Given the description of an element on the screen output the (x, y) to click on. 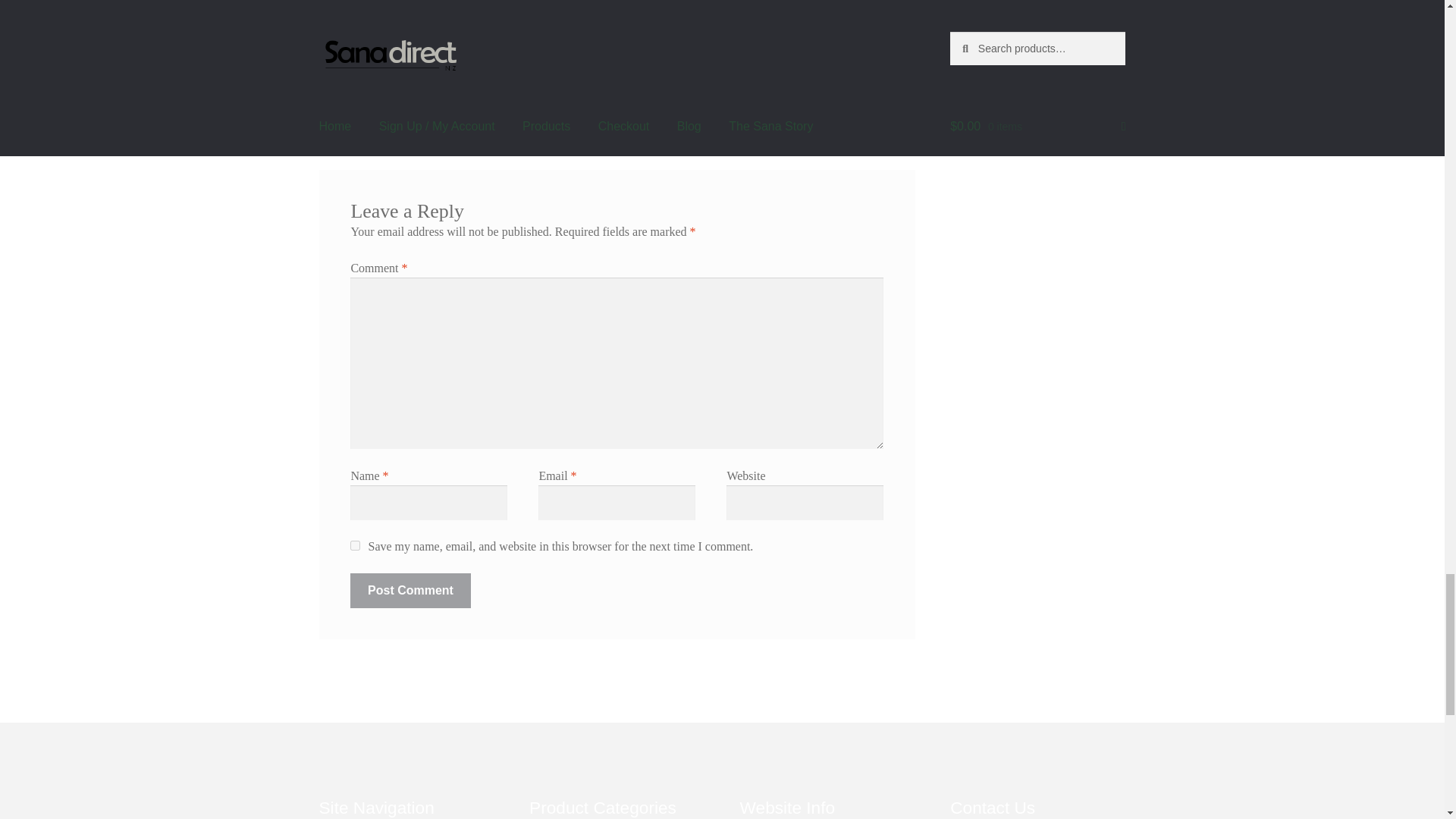
Post Comment (410, 590)
Health (377, 27)
yes (354, 545)
cholesterol (368, 46)
psyllium (416, 46)
